Given the description of an element on the screen output the (x, y) to click on. 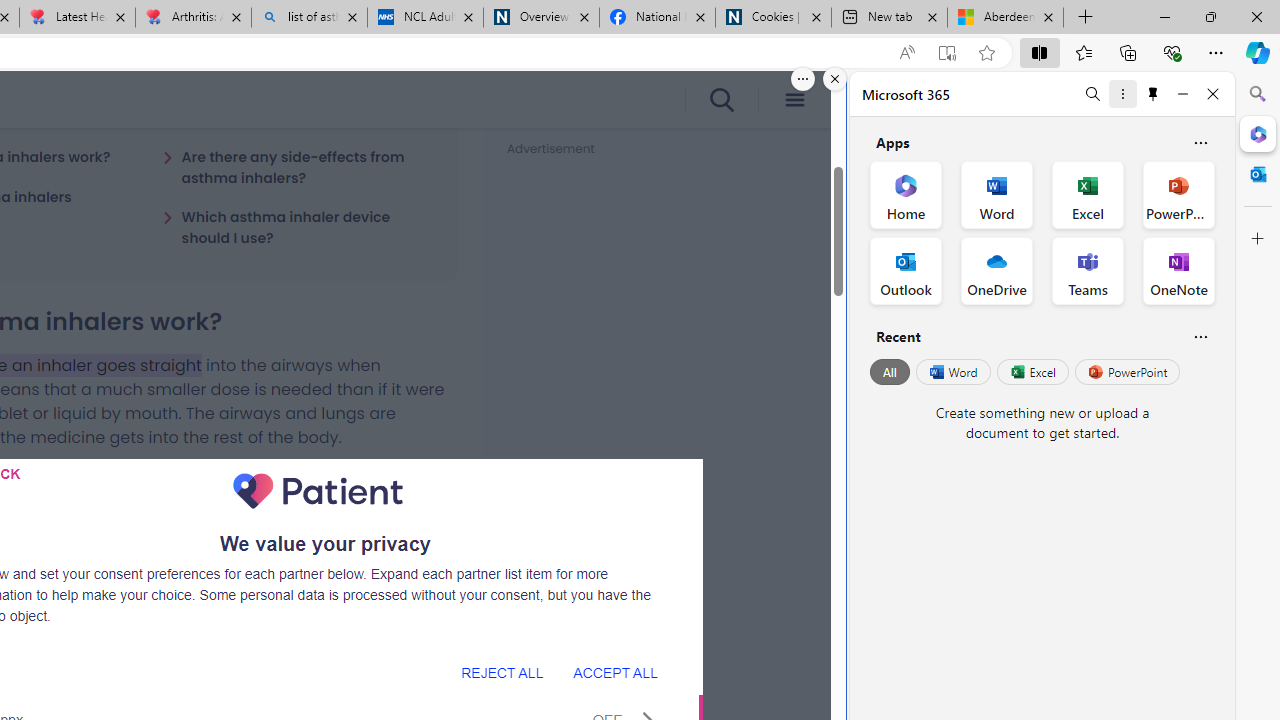
search (720, 99)
NCL Adult Asthma Inhaler Choice Guideline (424, 17)
menu icon (793, 99)
